Given the description of an element on the screen output the (x, y) to click on. 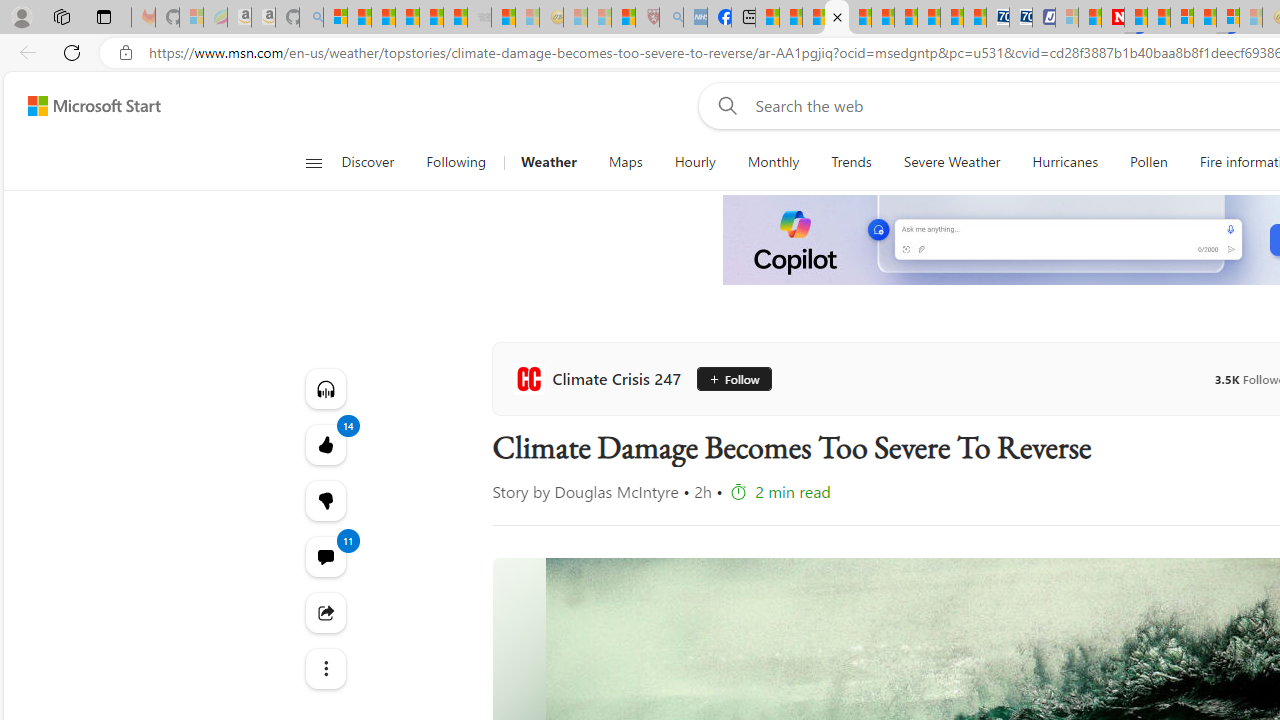
Cheap Hotels - Save70.com (1020, 17)
New Report Confirms 2023 Was Record Hot | Watch (430, 17)
Class: at-item (324, 668)
